Given the description of an element on the screen output the (x, y) to click on. 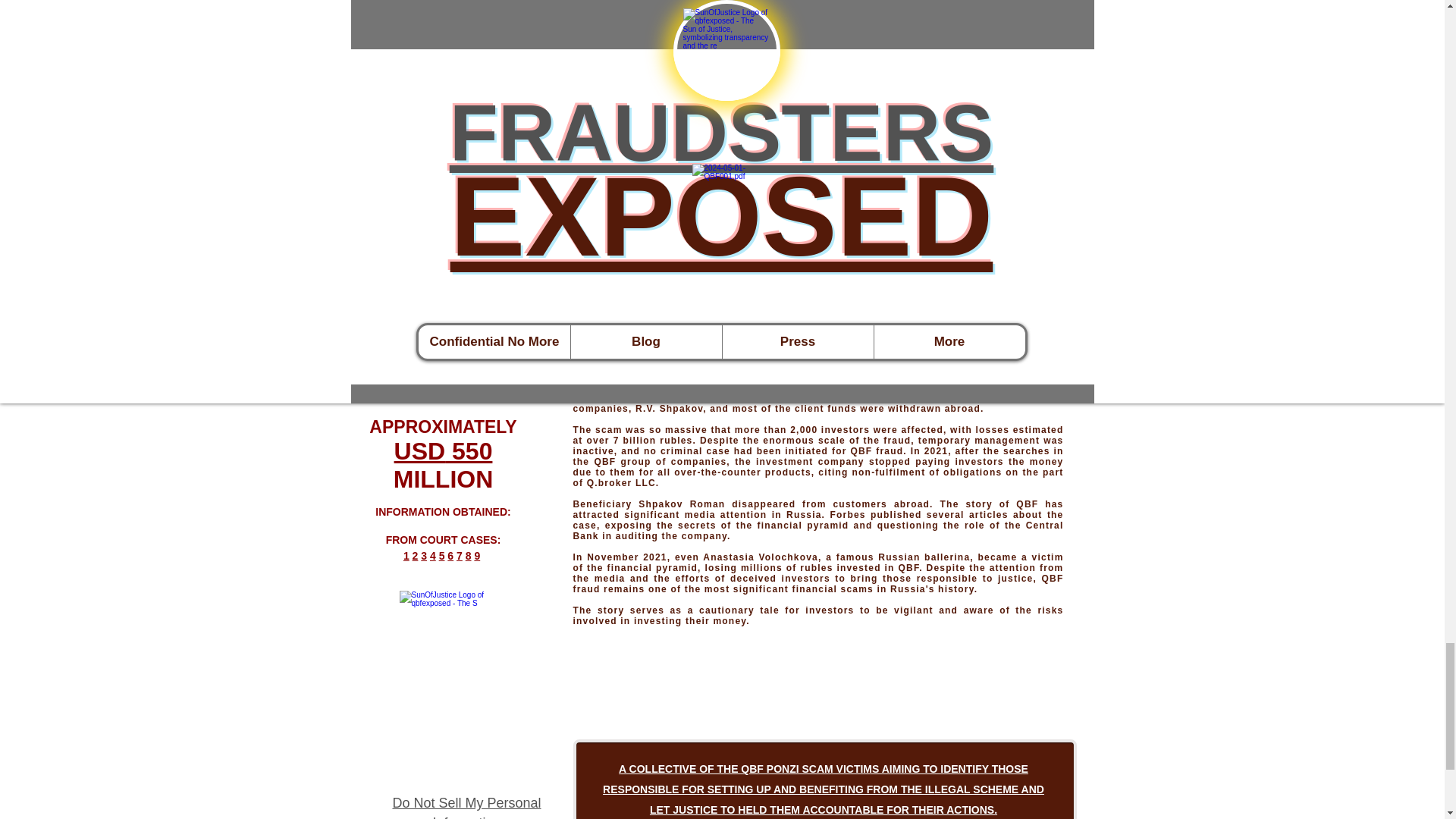
USD 550 (443, 451)
 QBF Fraud, NOA CIRCLE SCAM (442, 630)
Do Not Sell My Personal Information (466, 806)
2,000 (442, 332)
Next (1030, 182)
Previous (434, 182)
